Given the description of an element on the screen output the (x, y) to click on. 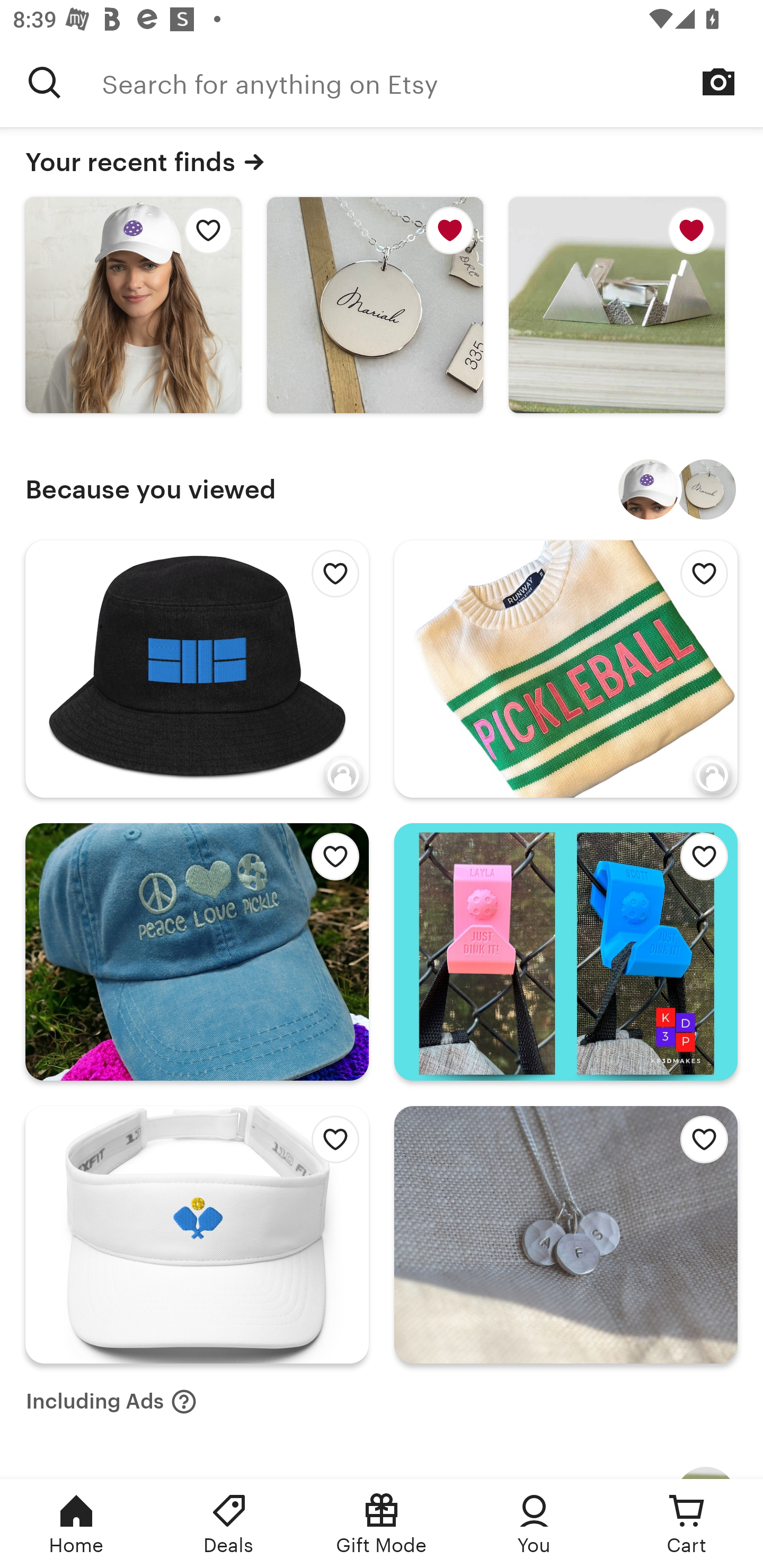
Search for anything on Etsy (44, 82)
Search by image (718, 81)
Search for anything on Etsy (432, 82)
Your recent finds  (381, 162)
Including Ads (111, 1401)
Deals (228, 1523)
Gift Mode (381, 1523)
You (533, 1523)
Cart (686, 1523)
